Given the description of an element on the screen output the (x, y) to click on. 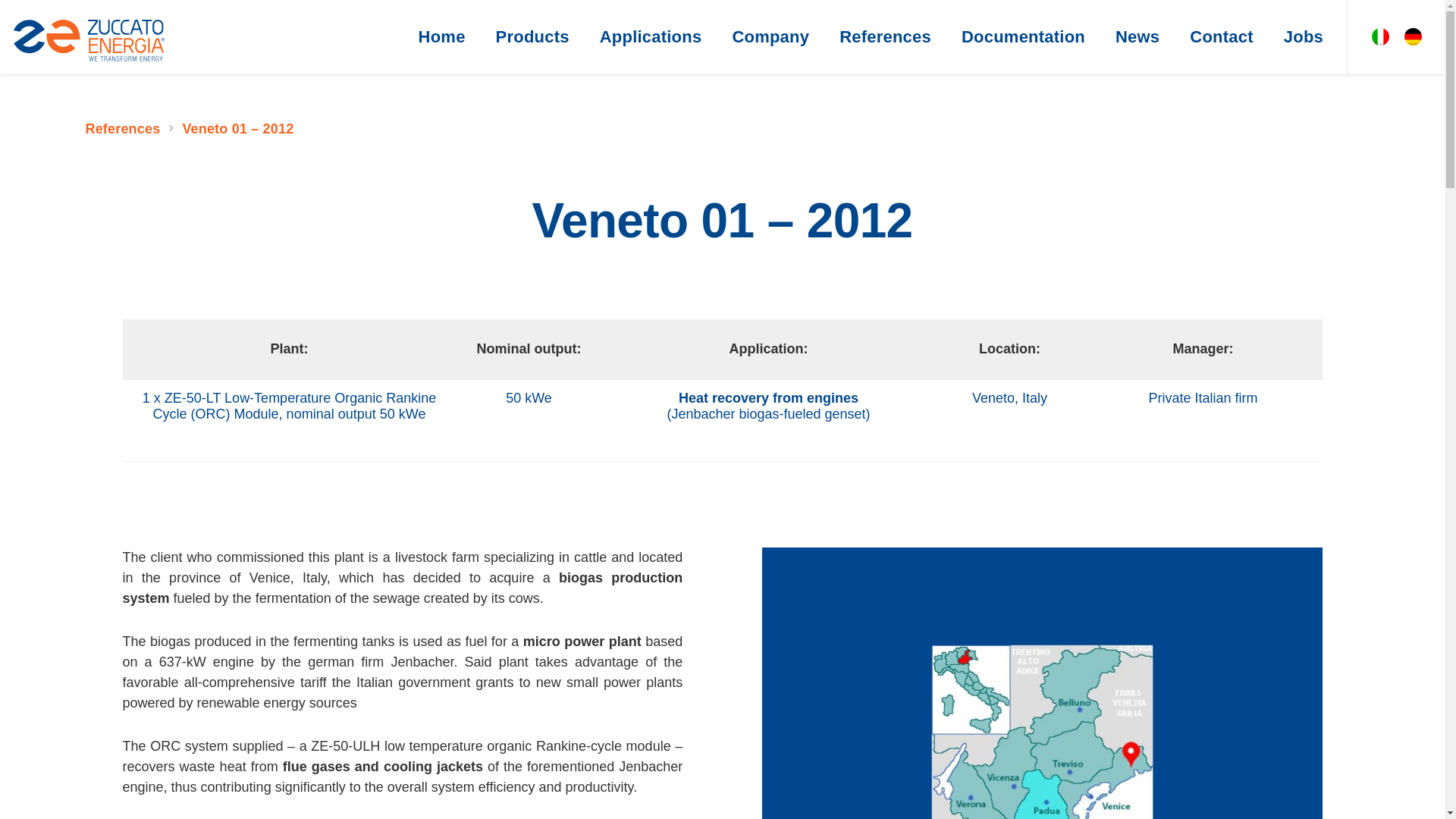
Documentation (1023, 36)
Products (532, 36)
References (122, 128)
Contact (1221, 36)
References (885, 36)
Company (770, 36)
Home (441, 36)
Jobs (1303, 36)
Applications (651, 36)
News (1137, 36)
